Given the description of an element on the screen output the (x, y) to click on. 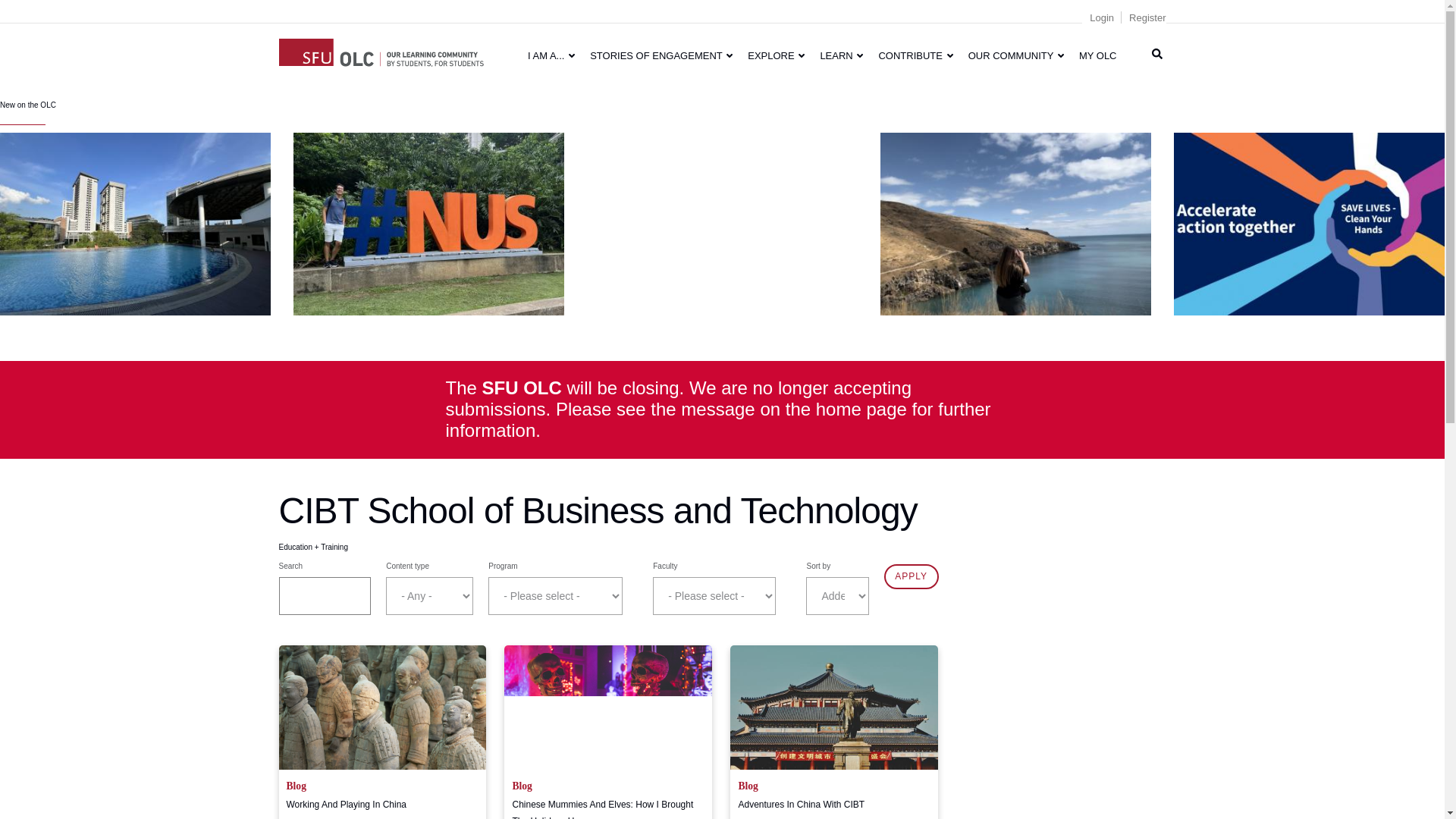
Search keywords (325, 596)
Login (1101, 17)
LEARN (841, 55)
I AM A... (550, 55)
Godley Head Hike (1015, 223)
CONTRIBUTE (914, 55)
Pool at Stephen Riady Center (135, 223)
EXPLORE (775, 55)
Home (381, 50)
Apply (911, 576)
NUS sign in Utown (429, 223)
STORIES OF ENGAGEMENT (660, 55)
OUR COMMUNITY (1015, 55)
Register (1147, 17)
